Given the description of an element on the screen output the (x, y) to click on. 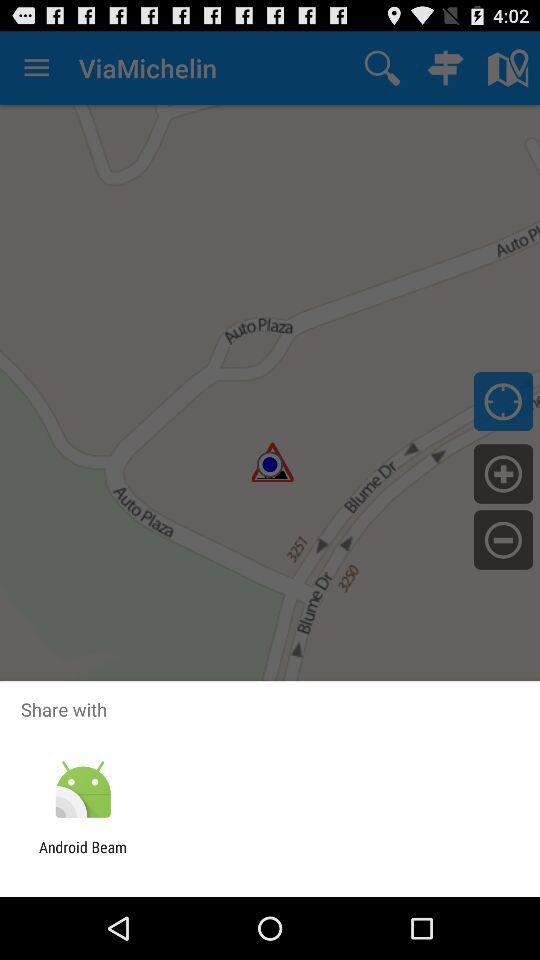
press app above android beam app (82, 789)
